Given the description of an element on the screen output the (x, y) to click on. 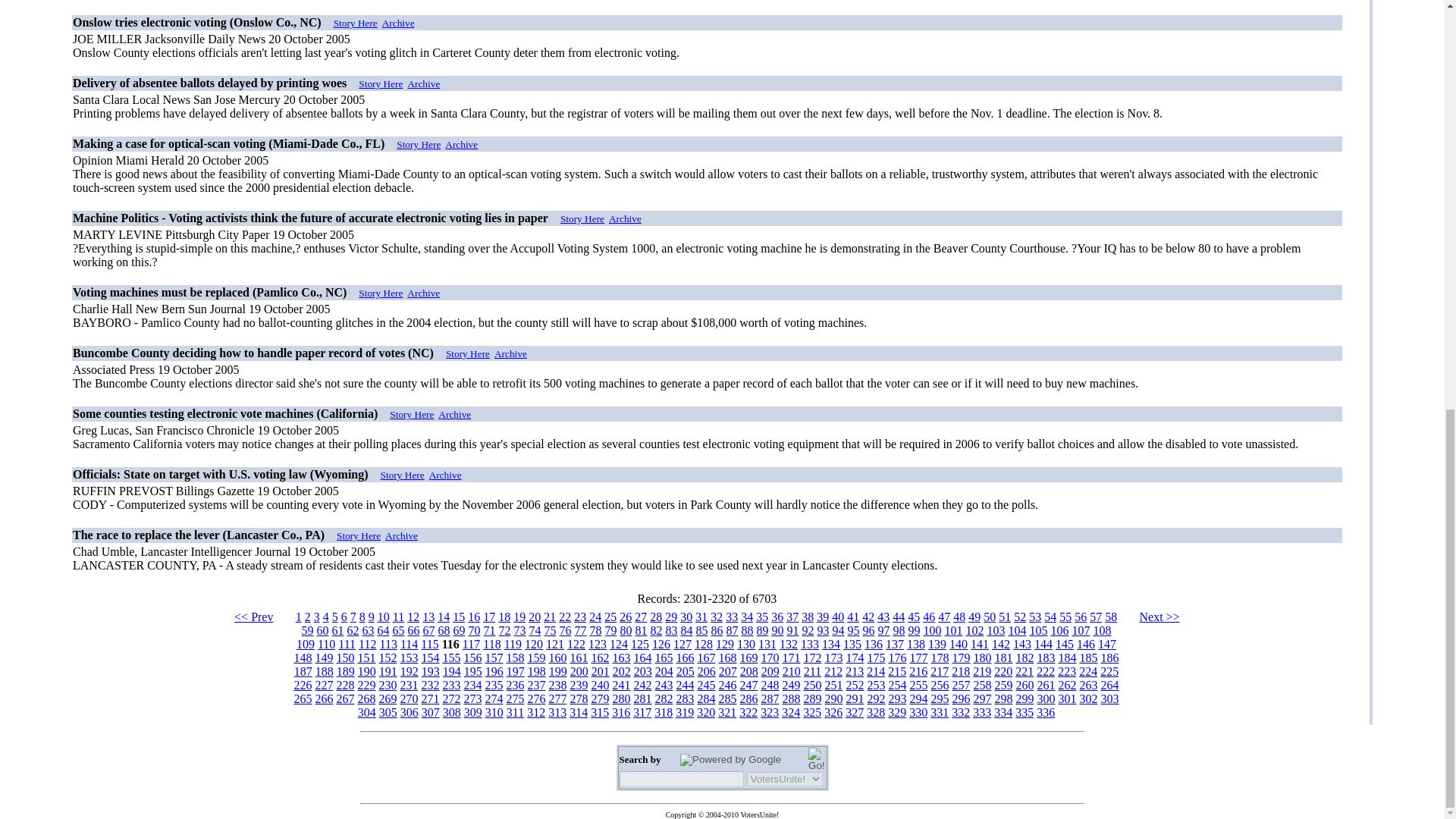
Story Here (418, 143)
Archive (397, 22)
Story Here (380, 83)
Story Here (355, 22)
Archive (461, 143)
Archive (423, 83)
Google Search (816, 759)
Powered by Google (729, 759)
